Given the description of an element on the screen output the (x, y) to click on. 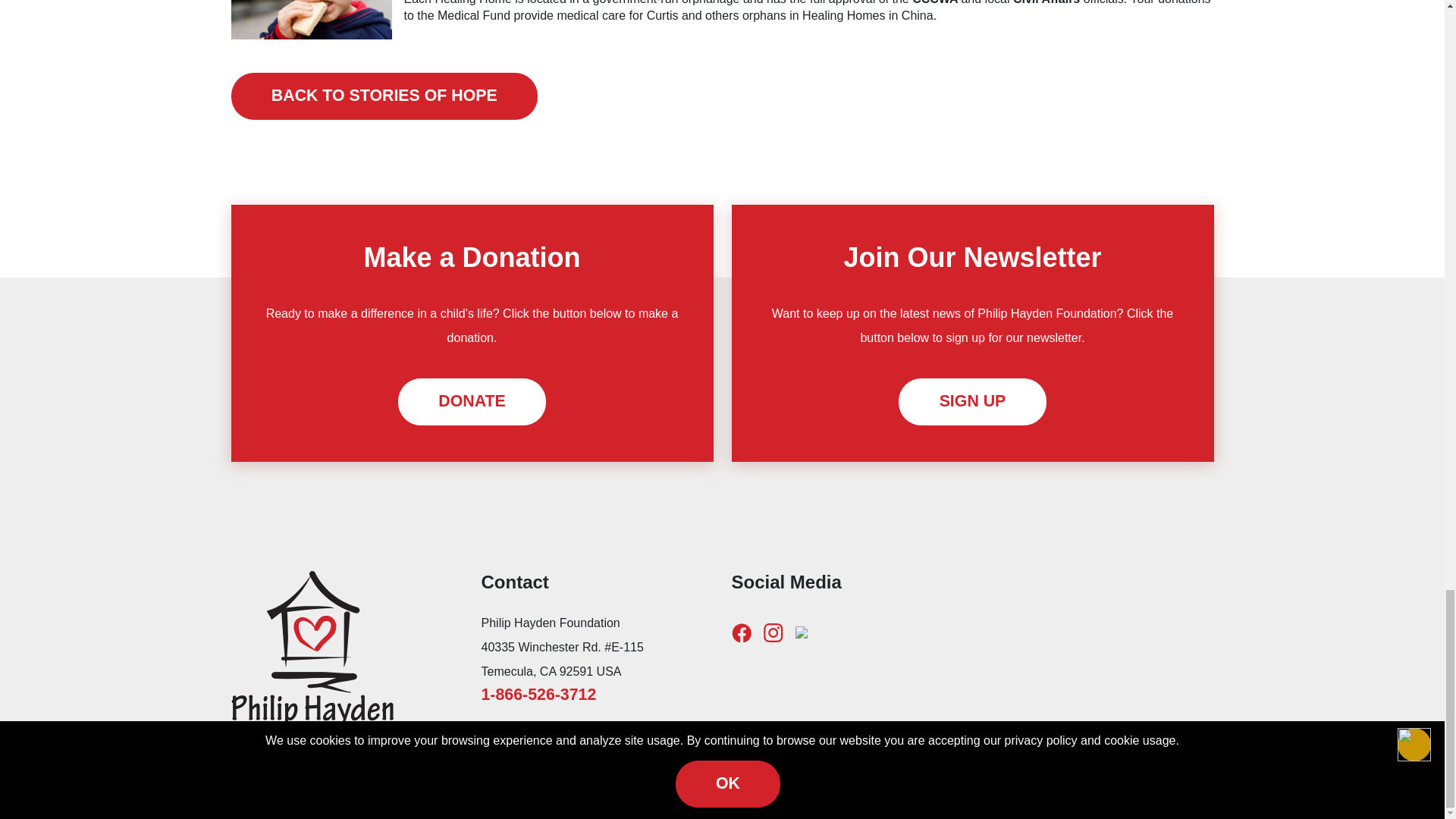
Facebook (740, 632)
1-866-526-3712 (537, 694)
SIGN UP (971, 401)
Instagram (772, 632)
BACK TO STORIES OF HOPE (383, 95)
Privacy Policy (922, 804)
Back40 Design (853, 804)
DONATE (471, 401)
